Given the description of an element on the screen output the (x, y) to click on. 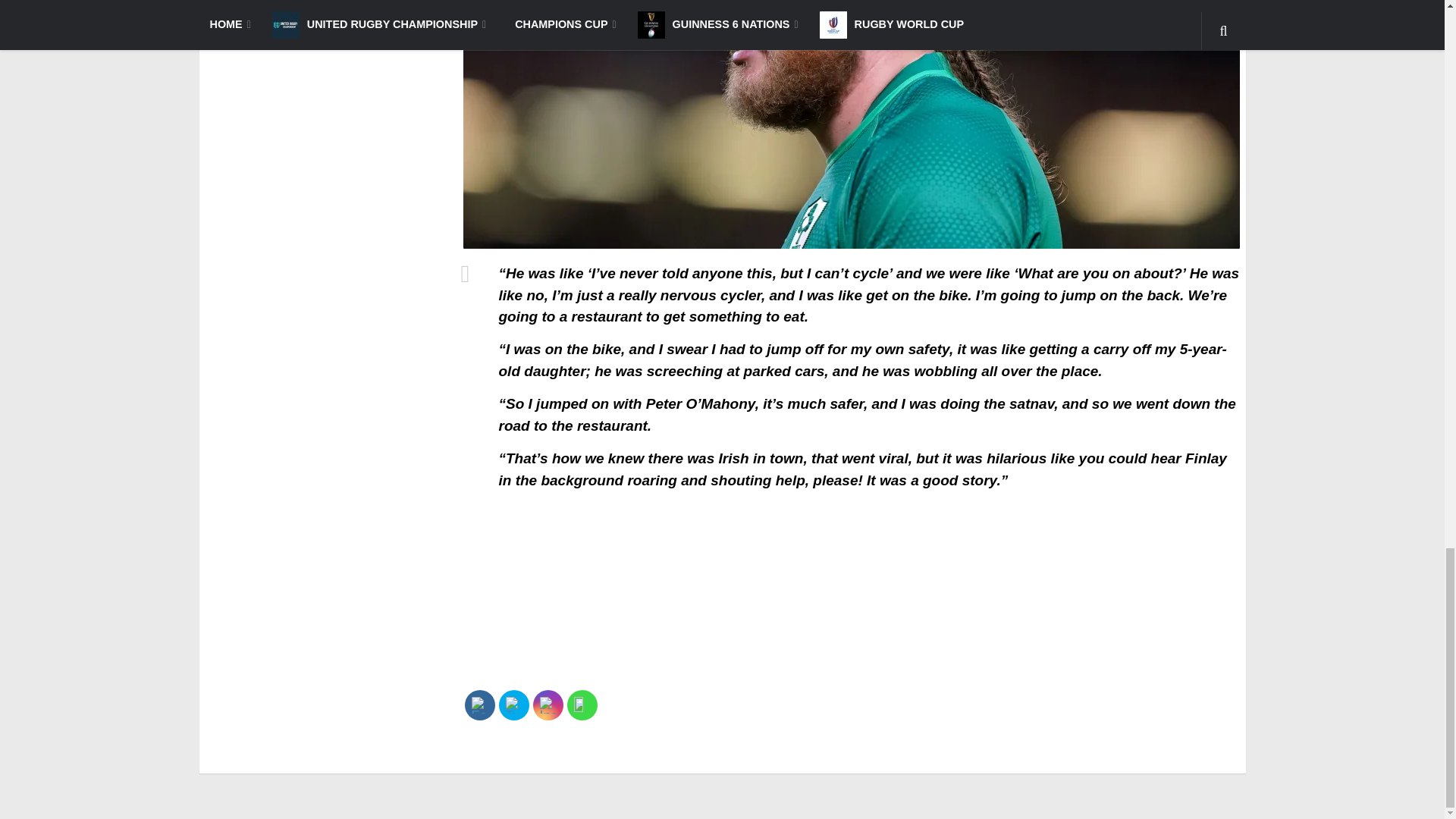
Instagram (548, 704)
Facebook (479, 704)
Twitter (513, 704)
